Given the description of an element on the screen output the (x, y) to click on. 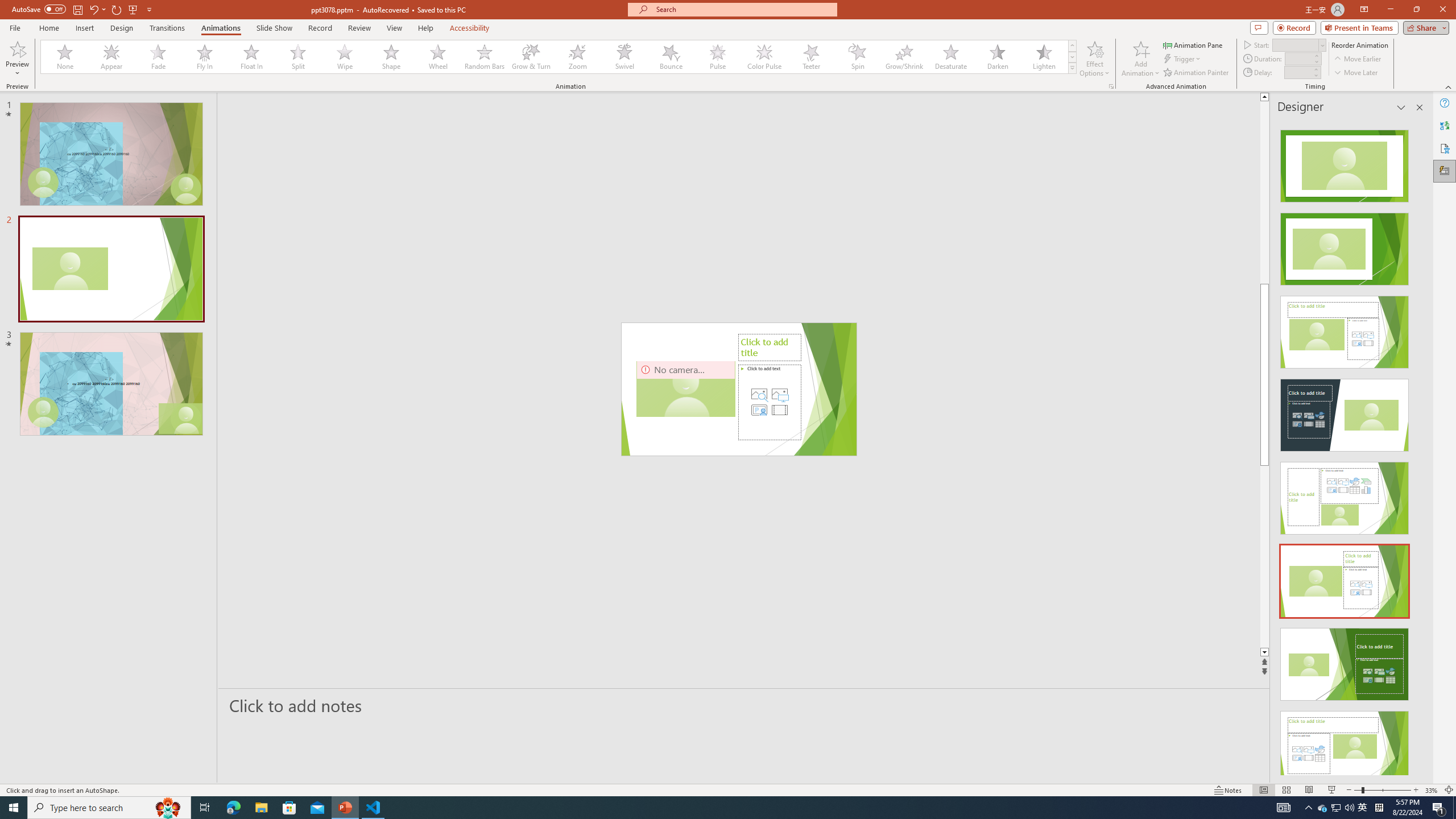
Grow/Shrink (903, 56)
Slide Sorter (1286, 790)
Trigger (1182, 58)
Move Later (1355, 72)
Spin (857, 56)
Zoom Out (1357, 790)
Ribbon Display Options (1364, 9)
Class: MsoCommandBar (728, 789)
Normal (1263, 790)
Fade (158, 56)
Task Pane Options (1400, 107)
Camera 3, No camera detected. (685, 388)
Translator (1444, 125)
Zoom (1382, 790)
